Given the description of an element on the screen output the (x, y) to click on. 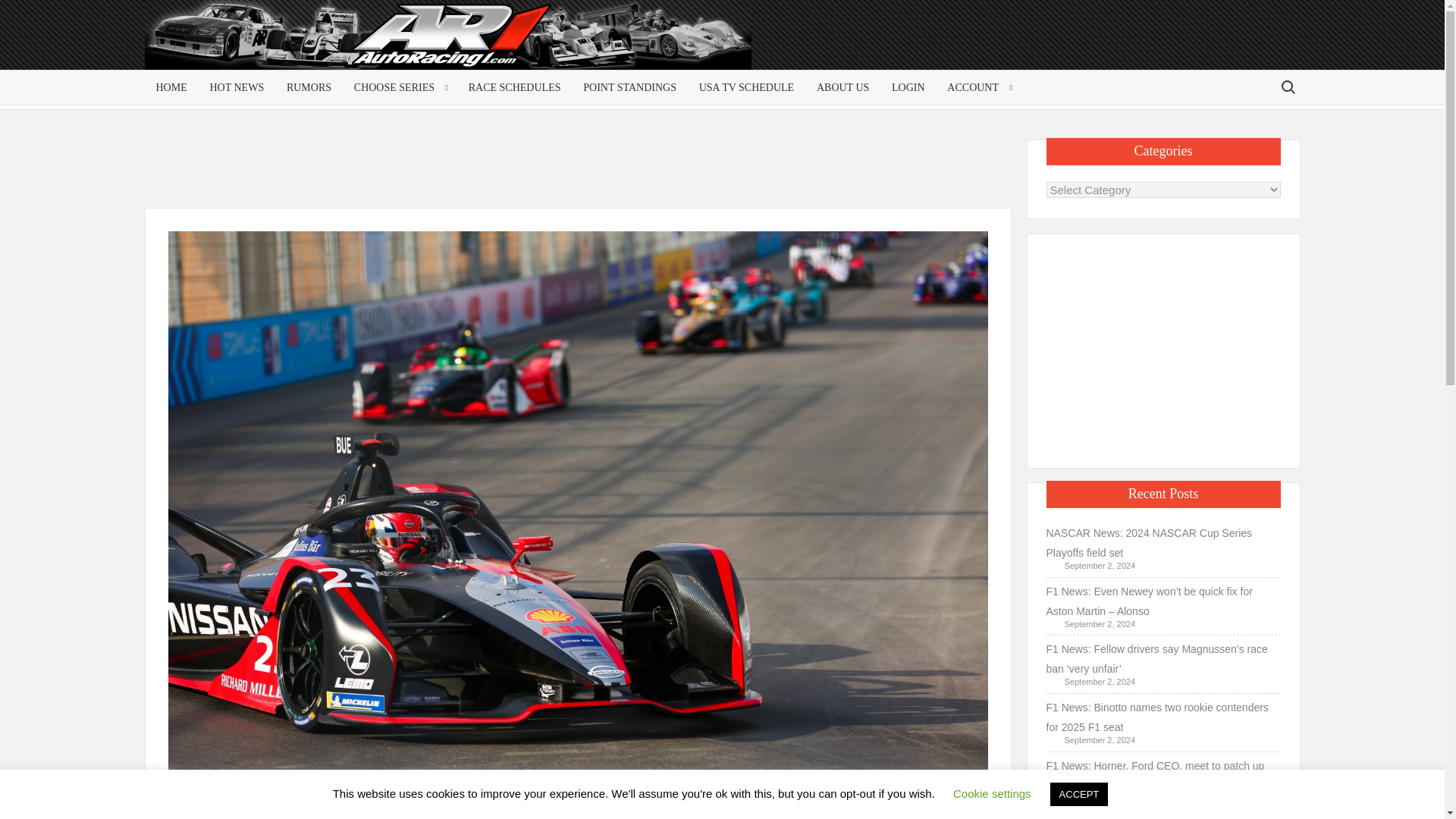
RUMORS (308, 87)
HOT NEWS (236, 87)
Advertisement (580, 173)
Advertisement (1162, 348)
AUTORACING1.COM (289, 40)
Advertisement (1178, 46)
HOME (171, 87)
CHOOSE SERIES (399, 87)
